Given the description of an element on the screen output the (x, y) to click on. 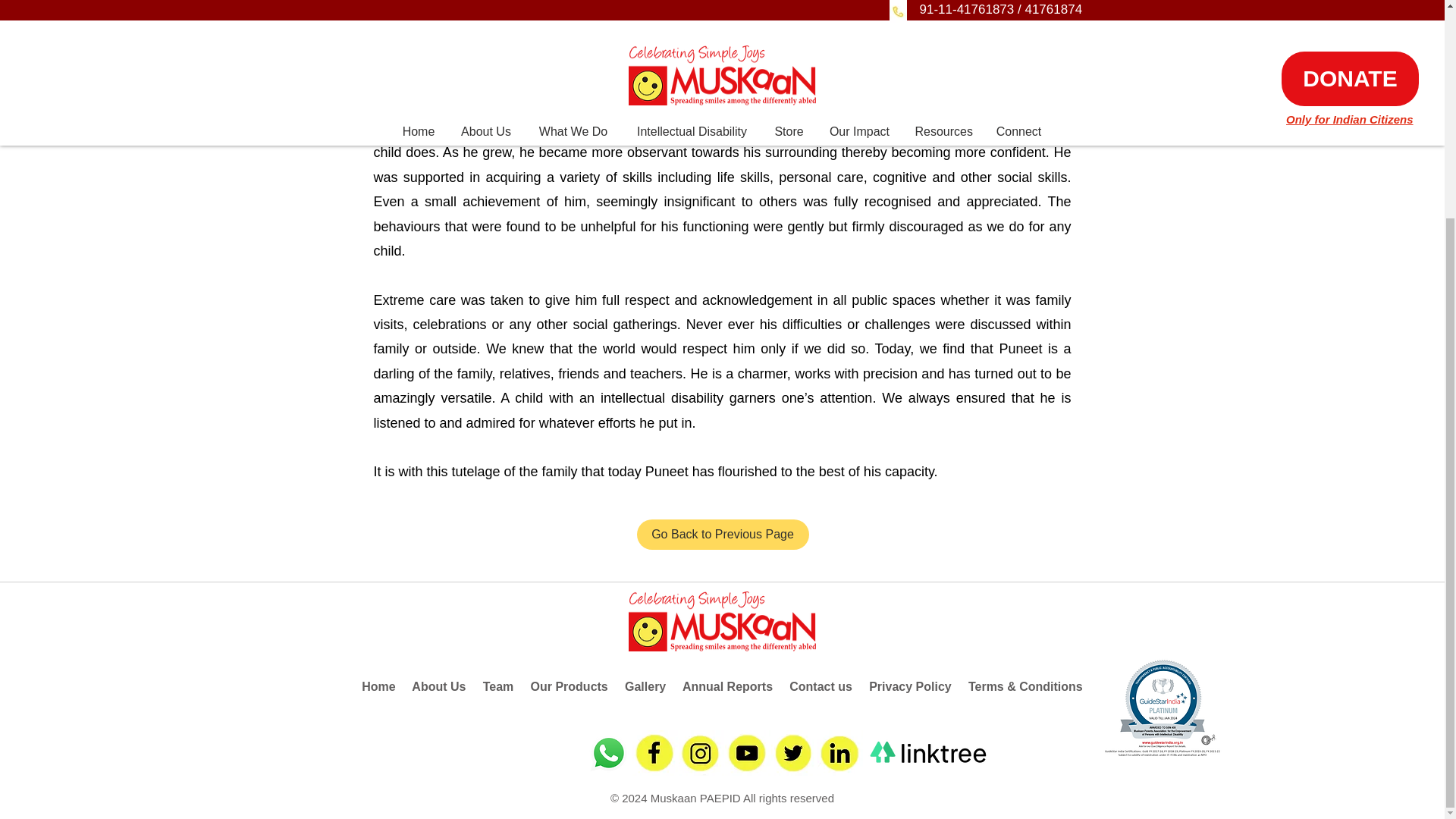
Our Products (569, 686)
Go Back to Previous Page (723, 534)
Annual Reports (727, 686)
Home (377, 686)
About Us (438, 686)
Gallery (644, 686)
Contact us (820, 686)
Team (498, 686)
Privacy Policy (910, 686)
